Given the description of an element on the screen output the (x, y) to click on. 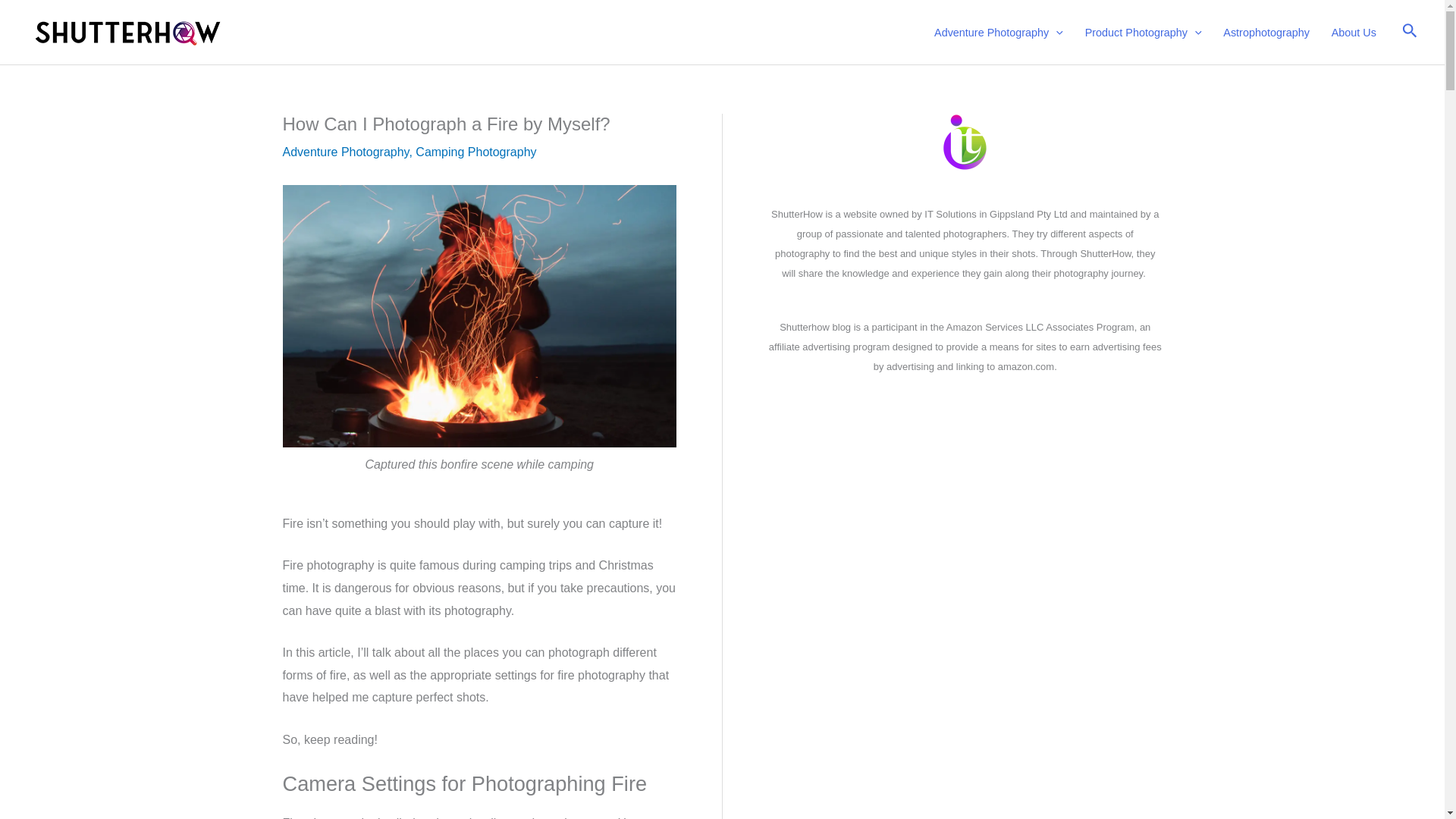
About Us (1353, 31)
Product Photography (1143, 31)
Astrophotography (1266, 31)
Adventure Photography (998, 31)
